Given the description of an element on the screen output the (x, y) to click on. 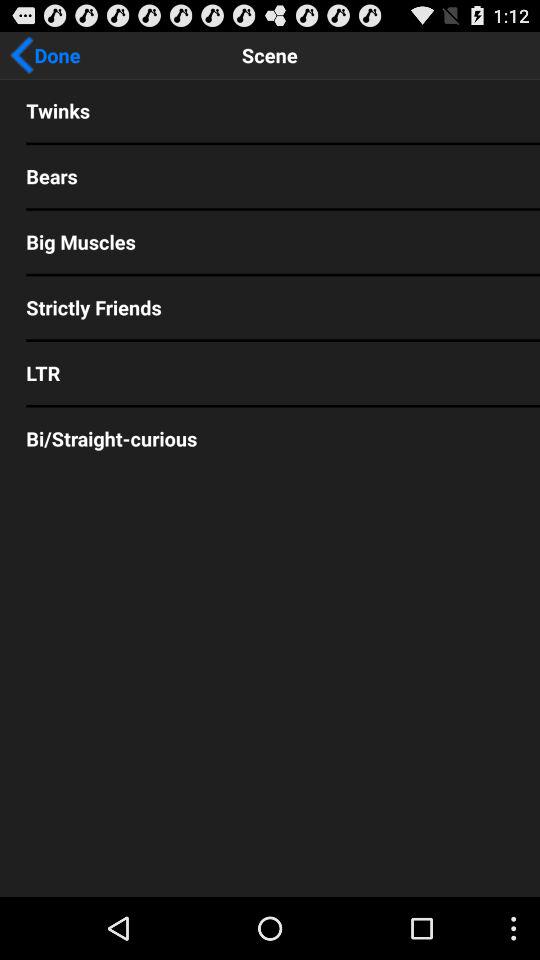
choose twinks (270, 110)
